Given the description of an element on the screen output the (x, y) to click on. 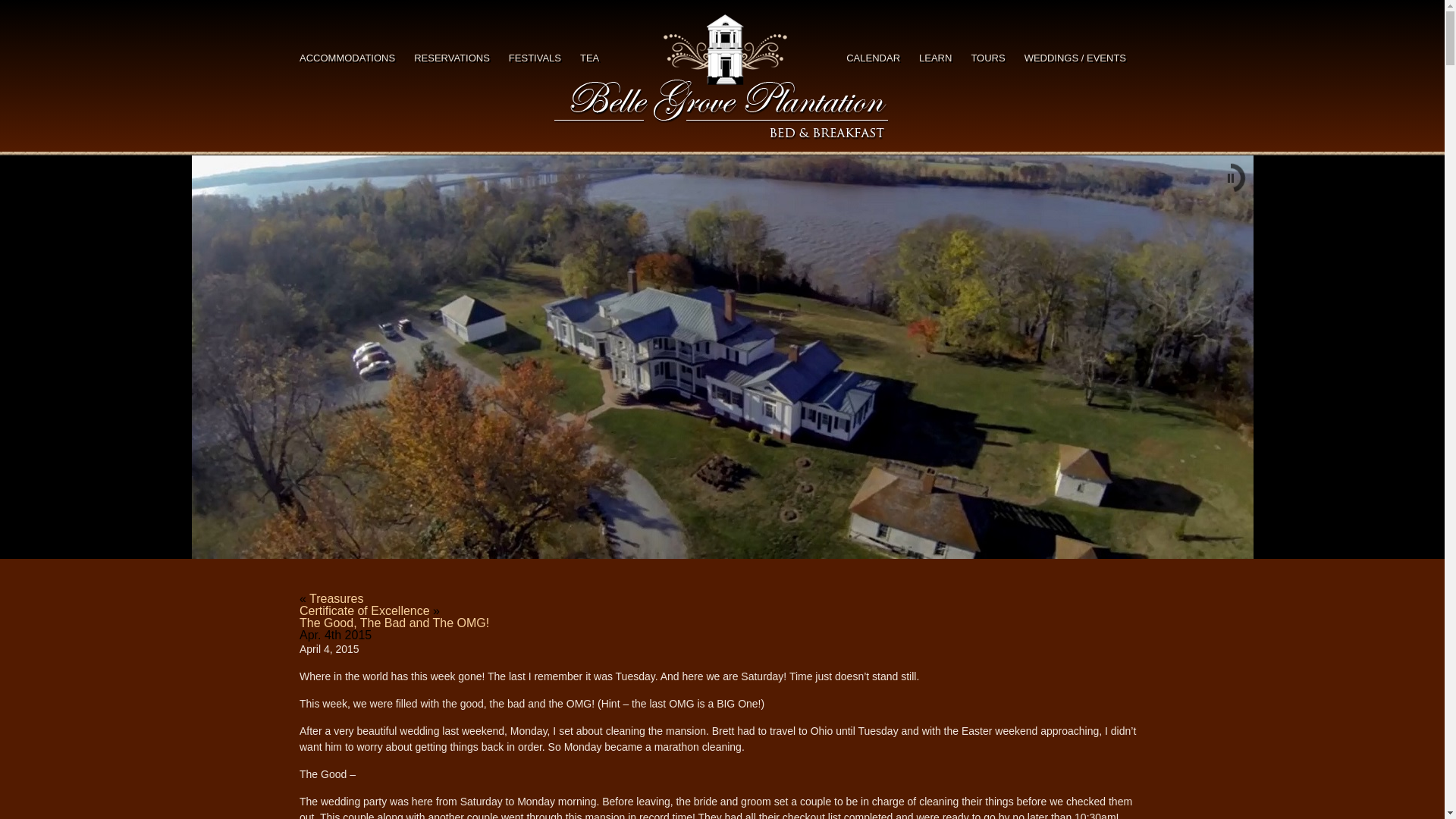
TOURS (987, 57)
Treasures (335, 598)
FESTIVALS (534, 57)
TEA (588, 57)
The Good, The Bad and The OMG! (394, 622)
ACCOMMODATIONS (346, 57)
CALENDAR (872, 57)
Permanent Link to The Good, The Bad and The OMG! (394, 622)
Certificate of Excellence (364, 610)
LEARN (935, 57)
